Given the description of an element on the screen output the (x, y) to click on. 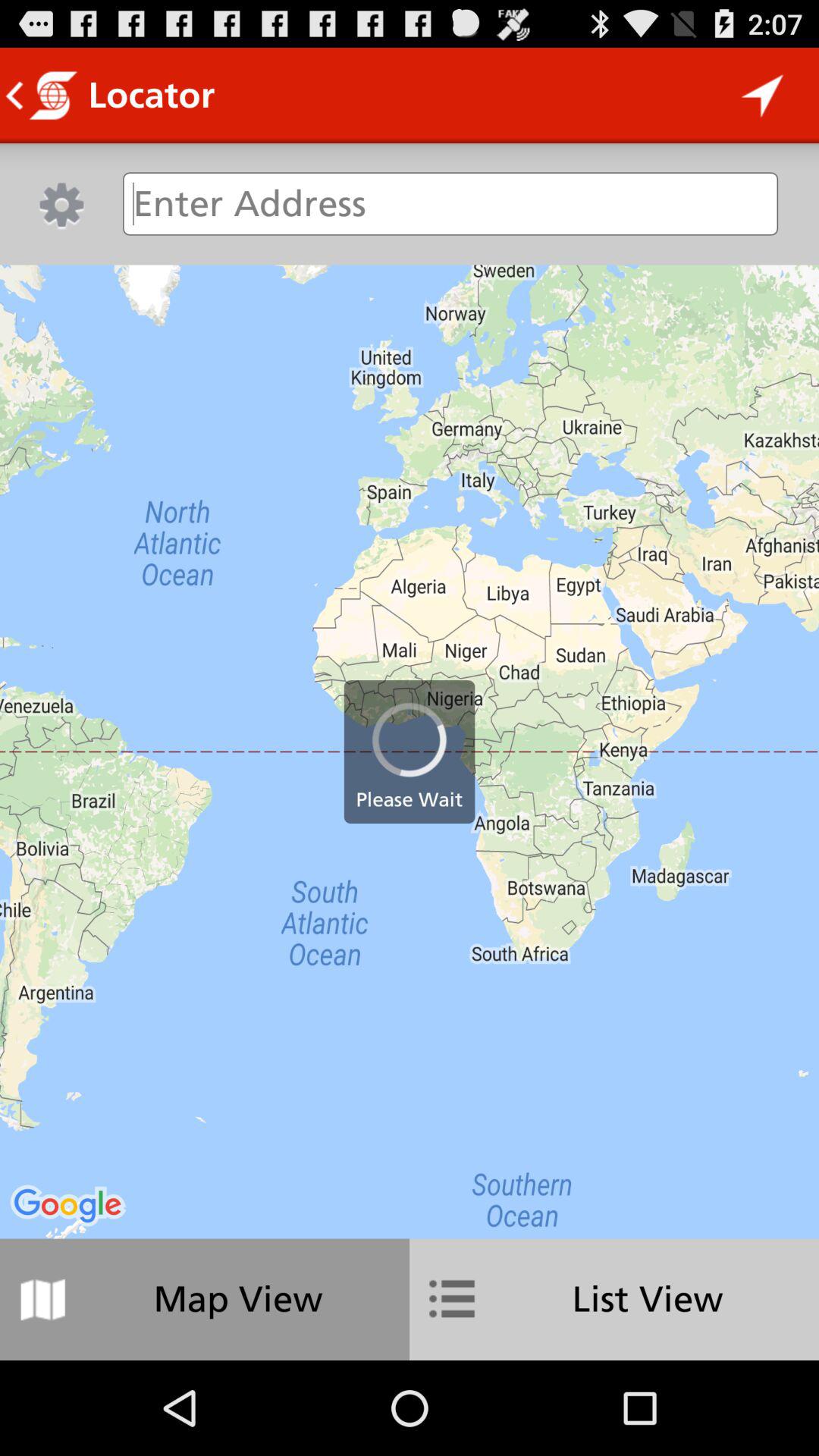
open the icon to the right of map view icon (614, 1299)
